Given the description of an element on the screen output the (x, y) to click on. 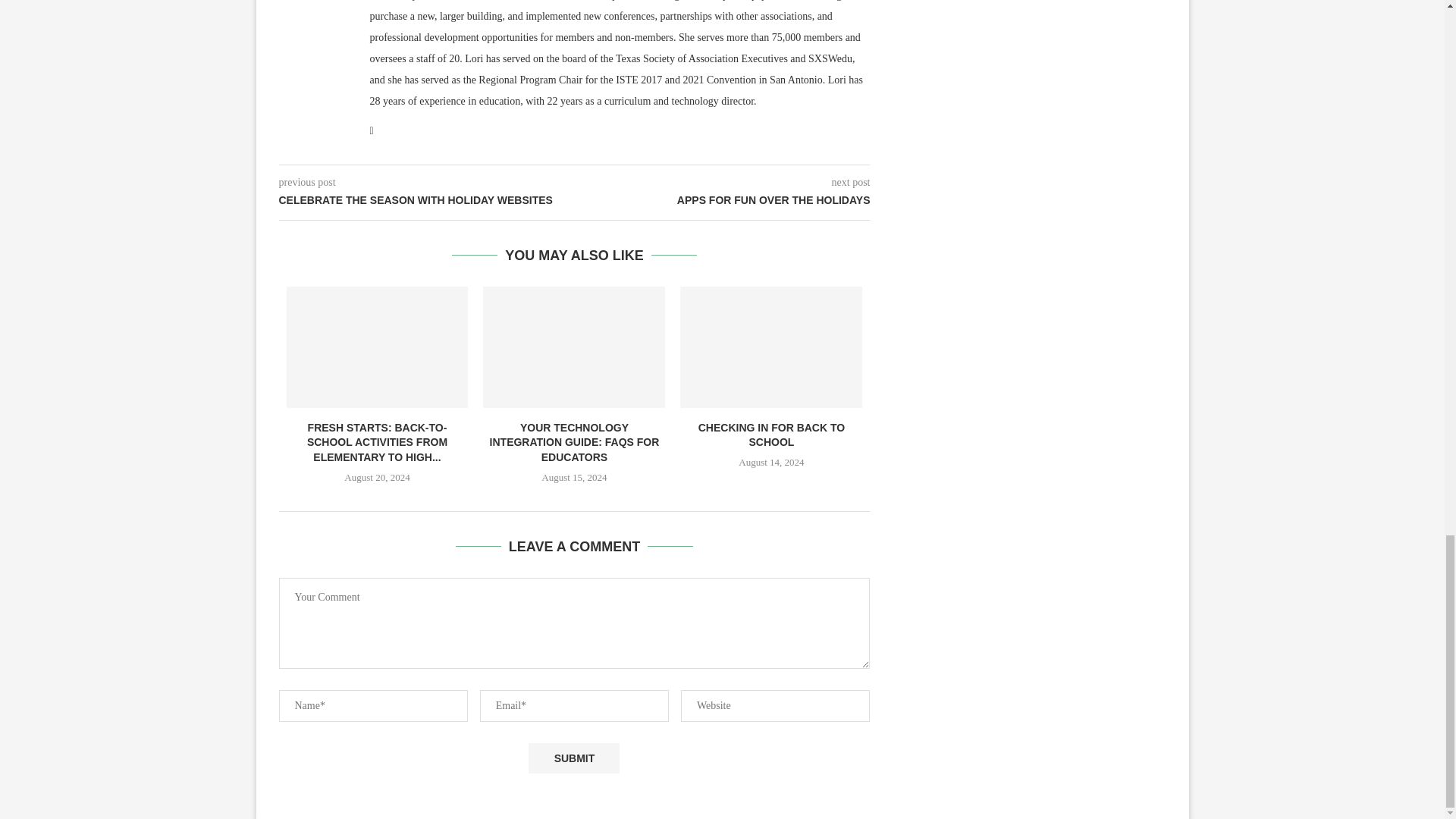
Checking In for Back to School (770, 346)
Your Technology Integration Guide: FAQs for Educators (574, 346)
Submit (574, 757)
